Given the description of an element on the screen output the (x, y) to click on. 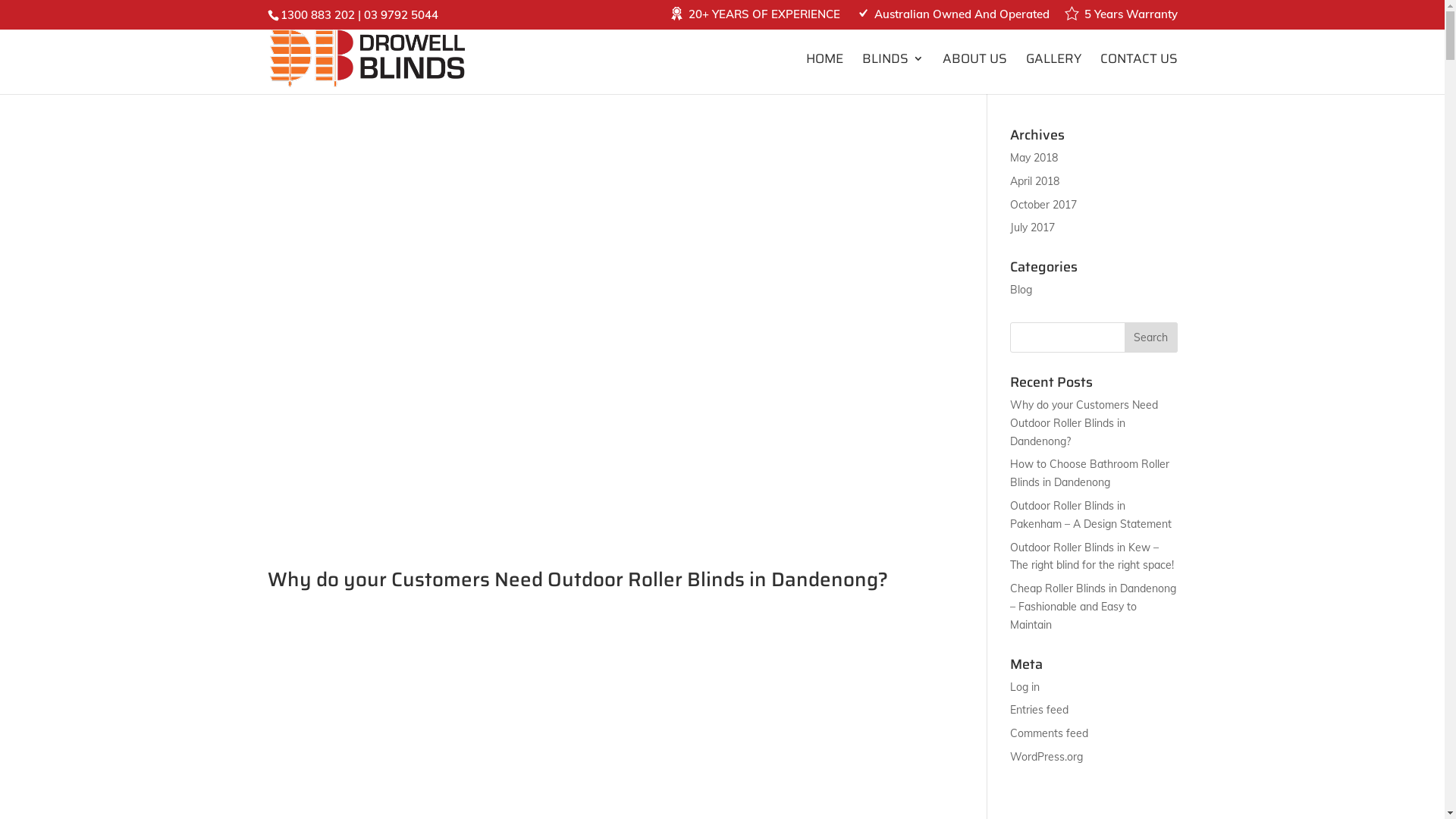
Search Element type: text (1149, 337)
May 2018 Element type: text (1033, 157)
Log in Element type: text (1024, 686)
CONTACT US Element type: text (1137, 73)
WordPress.org Element type: text (1046, 756)
How to Choose Bathroom Roller Blinds in Dandenong Element type: text (1089, 473)
Blog Element type: text (1021, 289)
20+ YEARS OF EXPERIENCE Element type: text (754, 18)
July 2017 Element type: text (1032, 227)
5 Years Warranty Element type: text (1119, 18)
October 2017 Element type: text (1043, 204)
HOME Element type: text (823, 73)
1300 883 202 Element type: text (317, 14)
03 9792 5044 Element type: text (401, 14)
GALLERY Element type: text (1052, 73)
April 2018 Element type: text (1034, 181)
ABOUT US Element type: text (973, 73)
Comments feed Element type: text (1049, 733)
BLINDS Element type: text (891, 73)
Entries feed Element type: text (1039, 709)
Australian Owned And Operated Element type: text (951, 18)
